Given the description of an element on the screen output the (x, y) to click on. 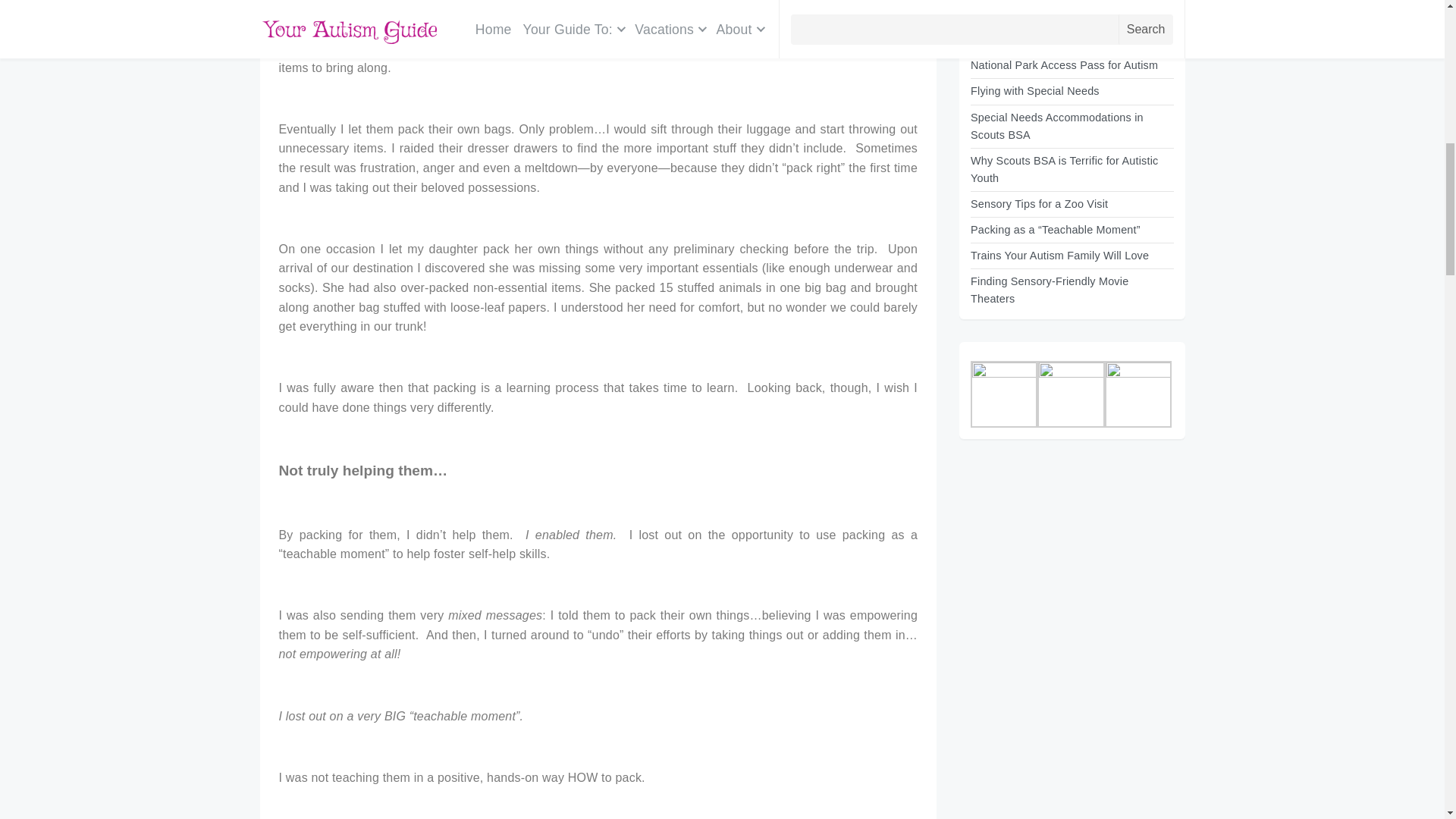
Special Needs Accommodations in Scouts BSA (1056, 125)
Flying with Special Needs (1035, 91)
National Park Access Pass for Autism (1064, 64)
An Autism Guide to Camping (1043, 39)
